Given the description of an element on the screen output the (x, y) to click on. 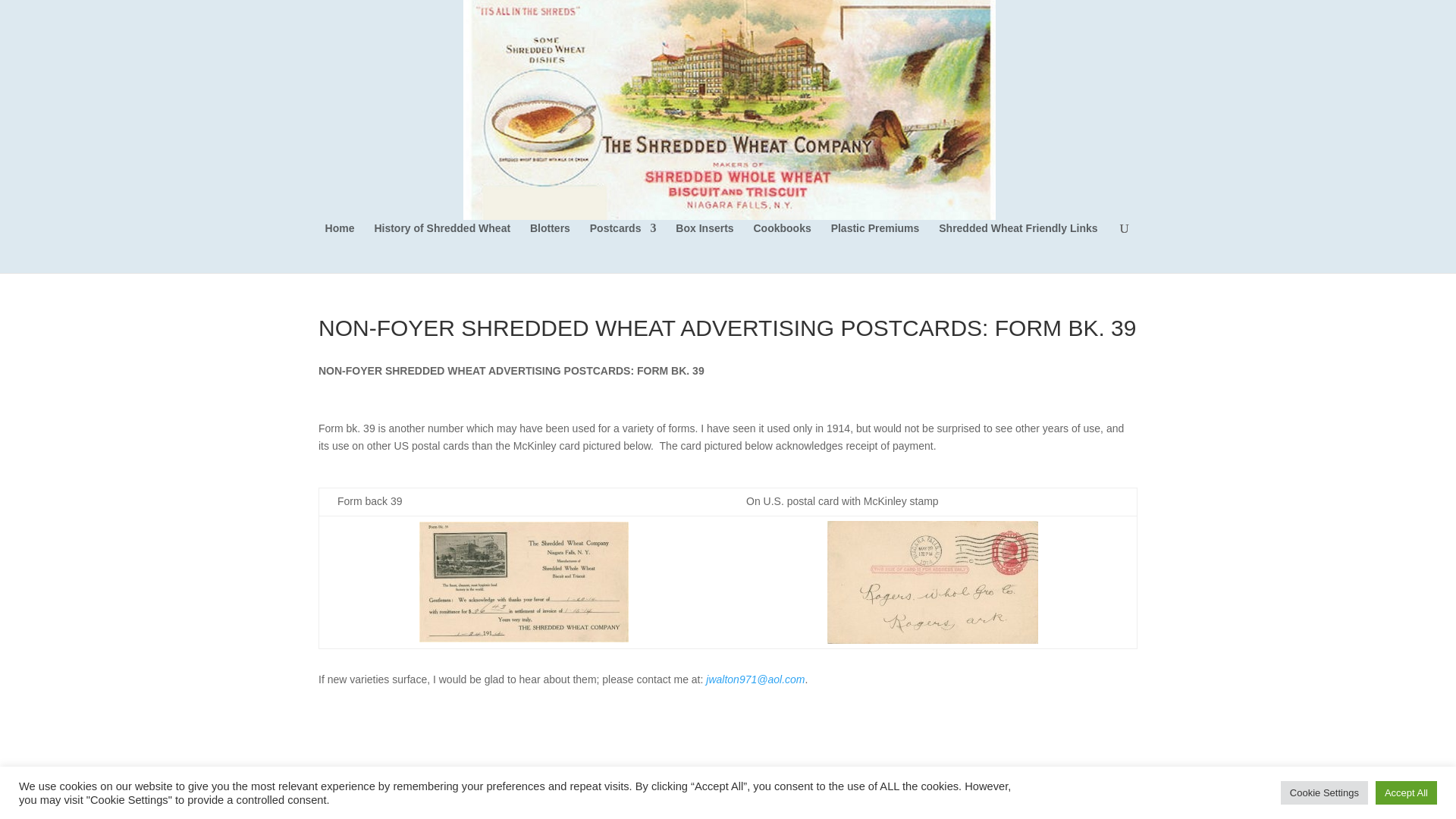
Premium WordPress Themes (420, 793)
Shredded Wheat Friendly Links (1018, 247)
Cookbooks (782, 247)
Postcards (622, 247)
Box Inserts (704, 247)
History of Shredded Wheat (442, 247)
Plastic Premiums (875, 247)
